Given the description of an element on the screen output the (x, y) to click on. 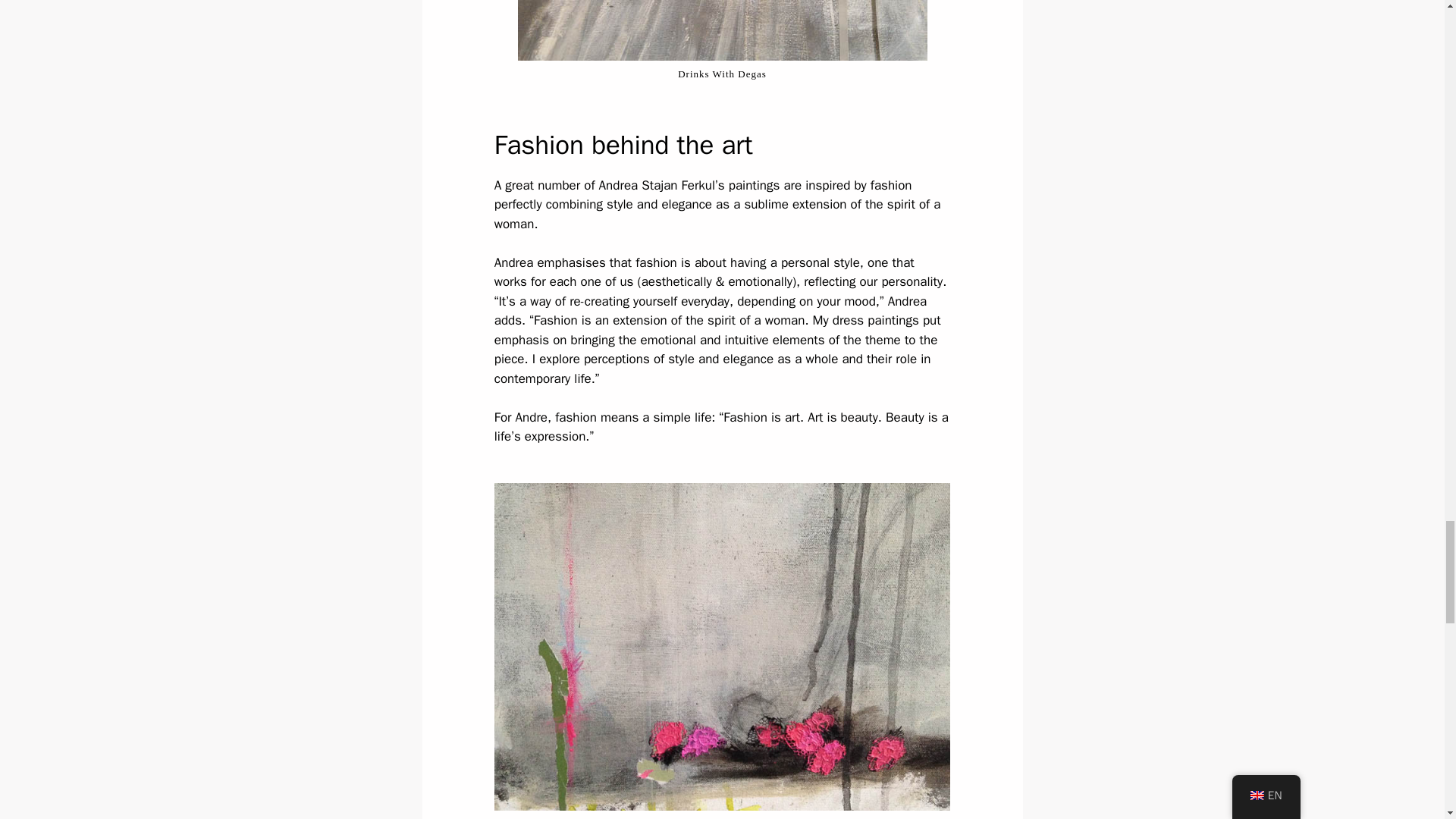
Andrea Stajan-Ferkul: Fashion and Art Collusion (721, 30)
